Given the description of an element on the screen output the (x, y) to click on. 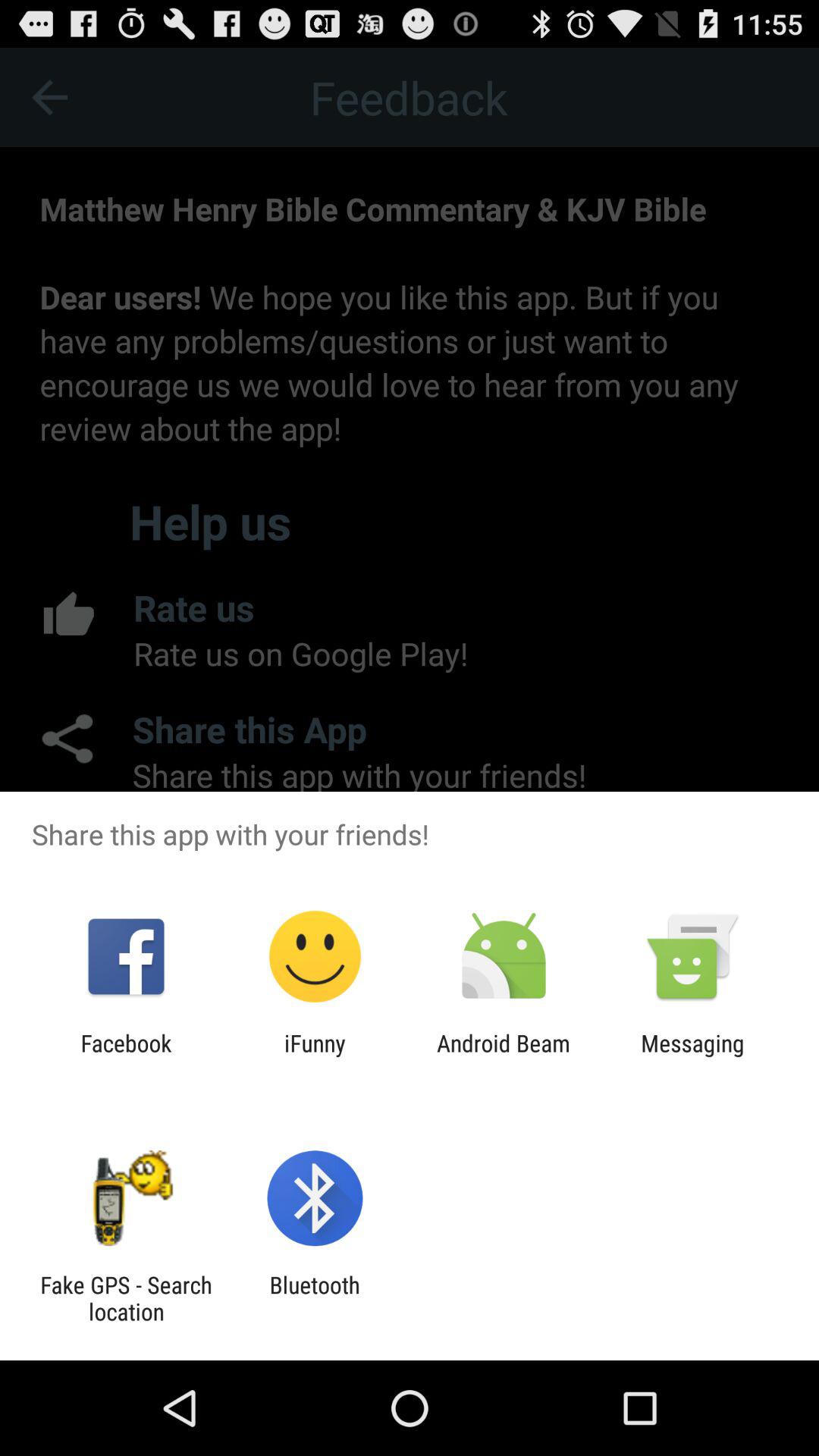
press the item to the right of the fake gps search item (314, 1298)
